Given the description of an element on the screen output the (x, y) to click on. 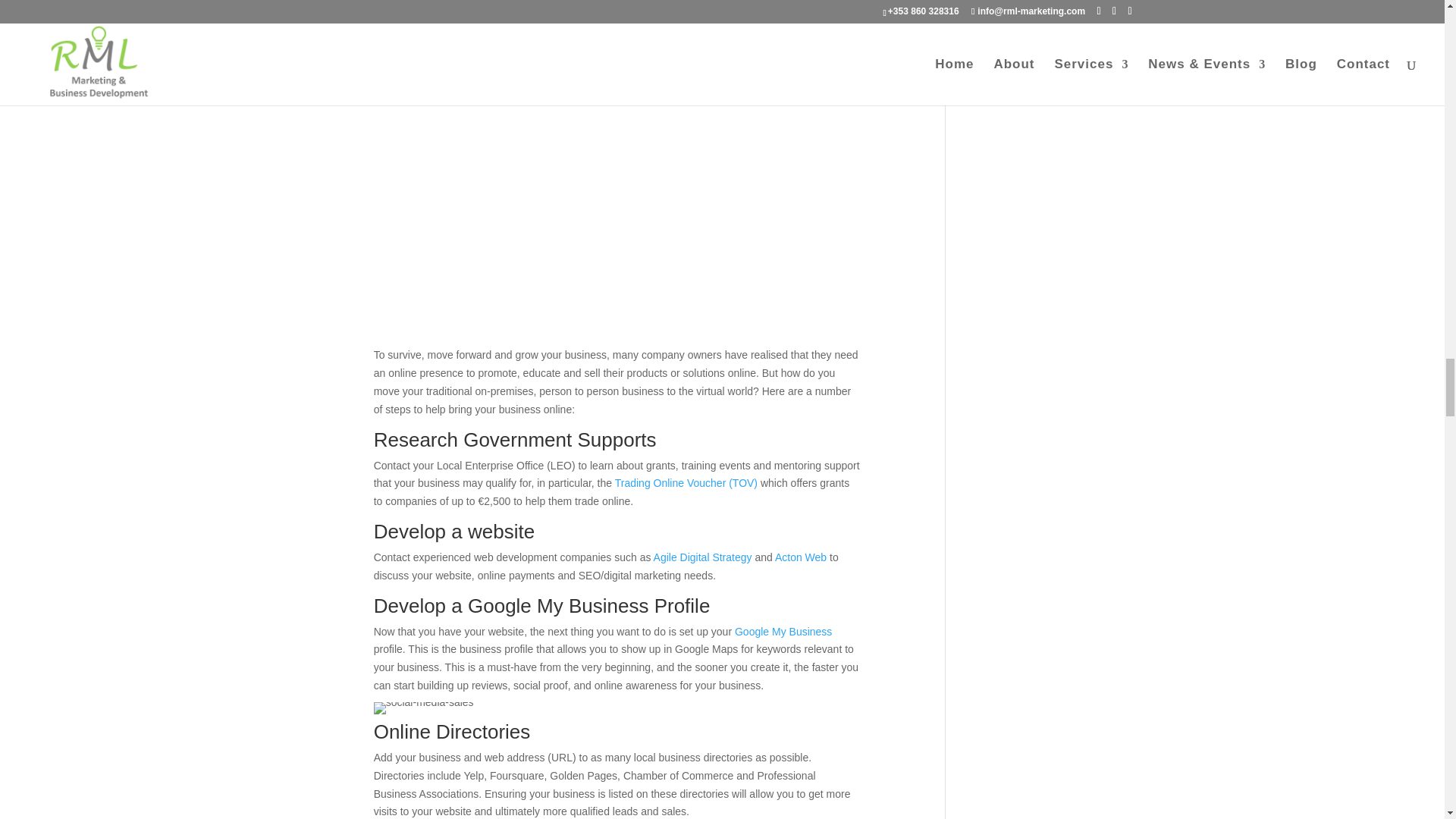
social-media-sales (424, 707)
